Given the description of an element on the screen output the (x, y) to click on. 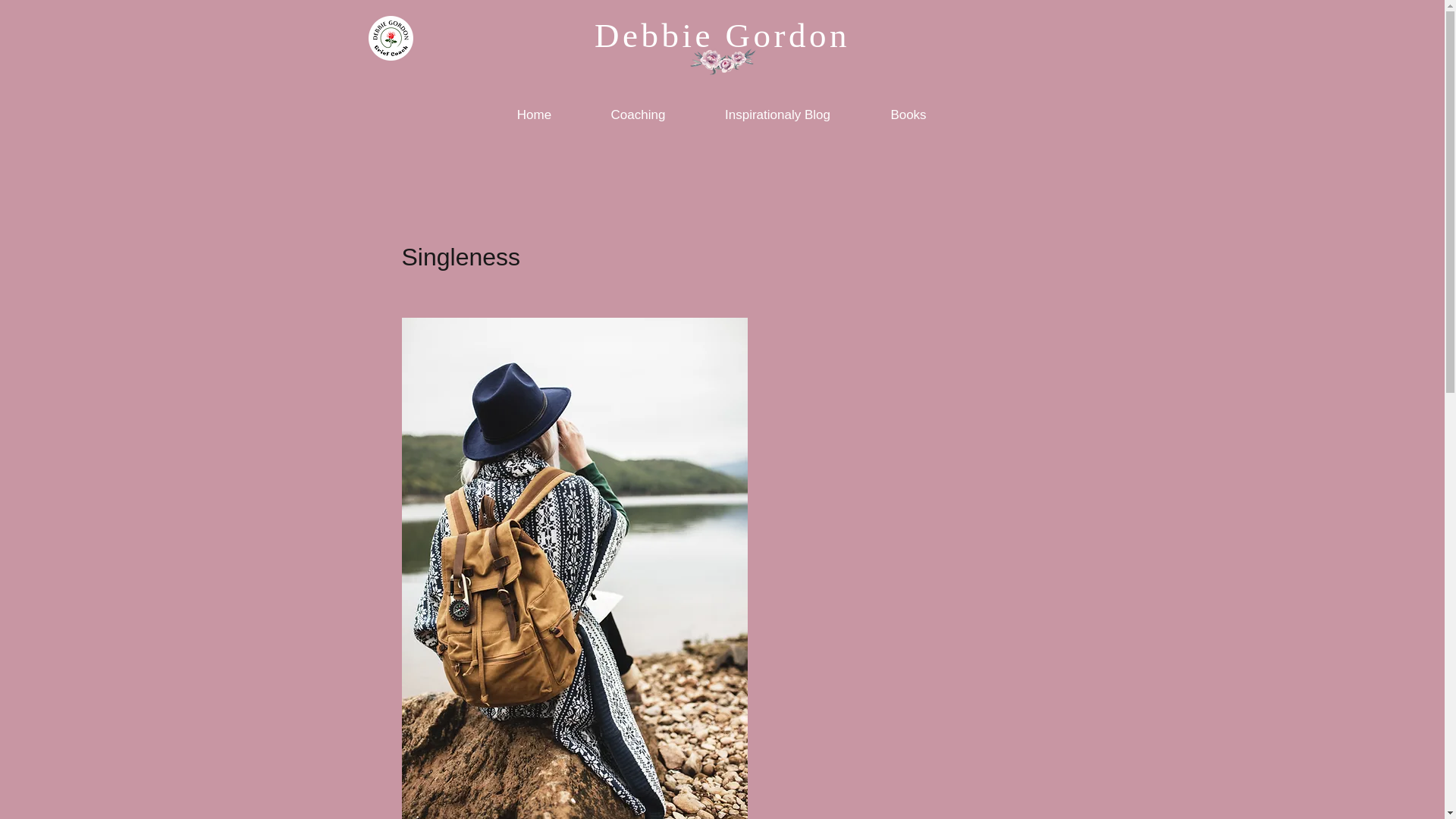
Books (908, 115)
Coaching (637, 115)
Home (533, 115)
Inspirationaly Blog (777, 115)
